Given the description of an element on the screen output the (x, y) to click on. 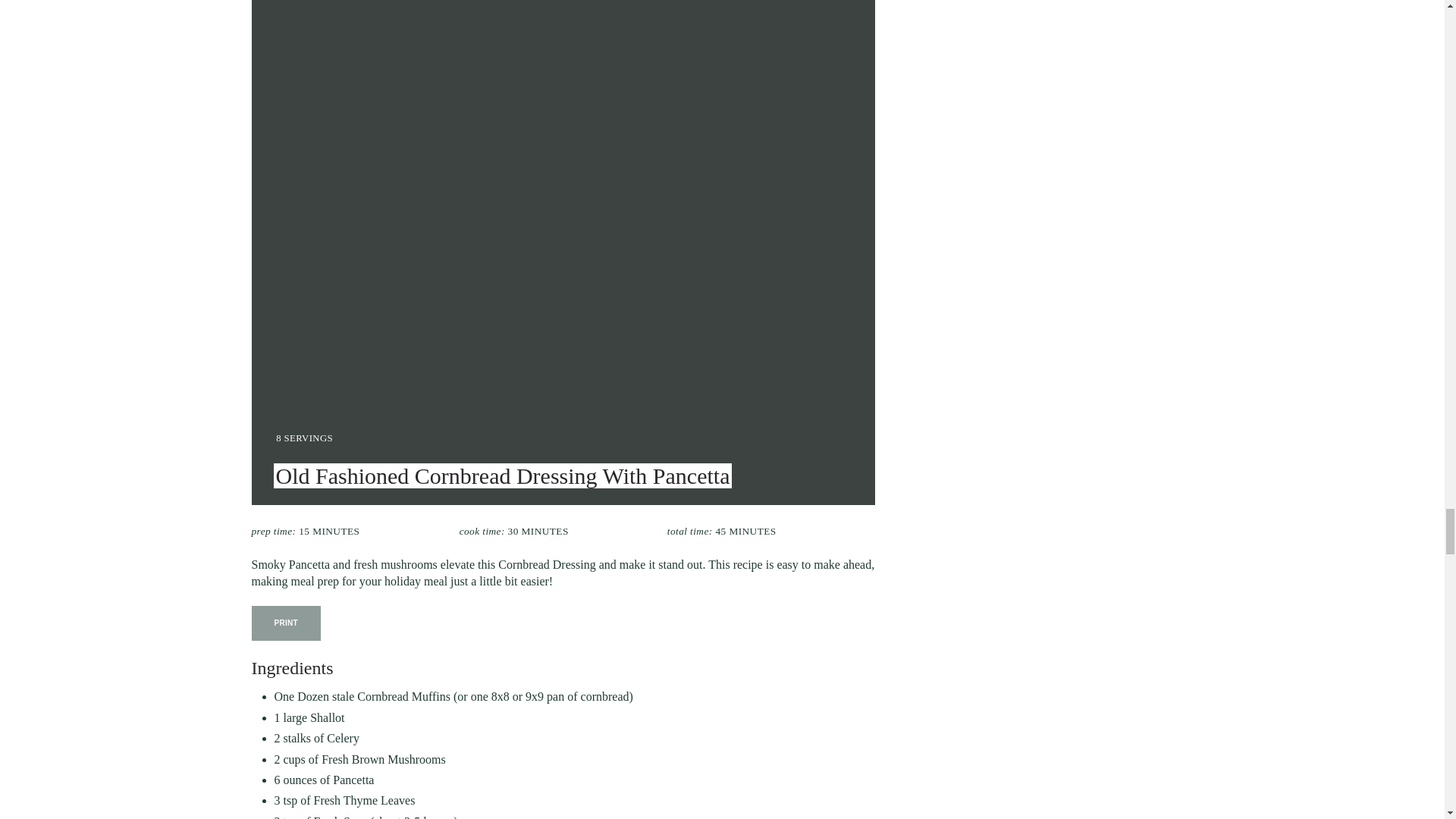
PRINT (286, 623)
